Given the description of an element on the screen output the (x, y) to click on. 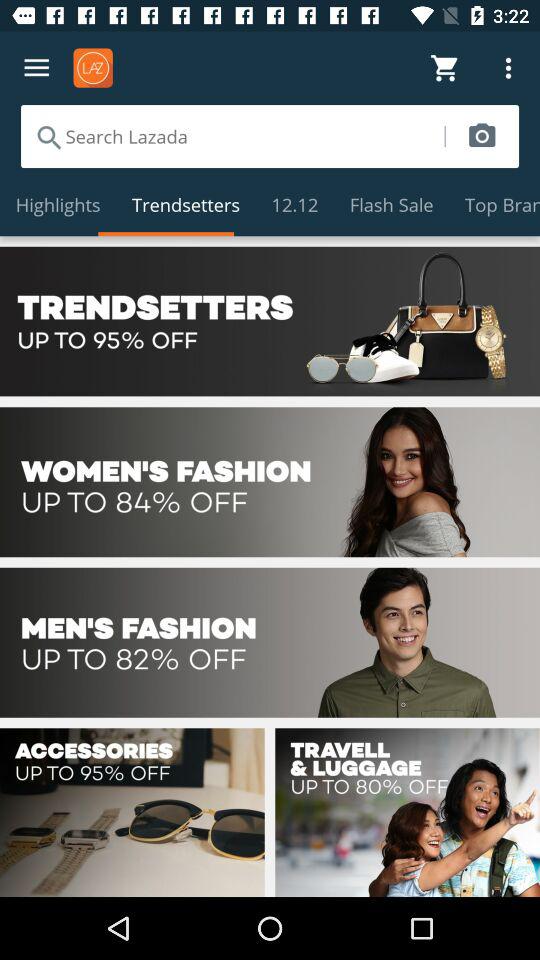
advertisement (270, 642)
